Given the description of an element on the screen output the (x, y) to click on. 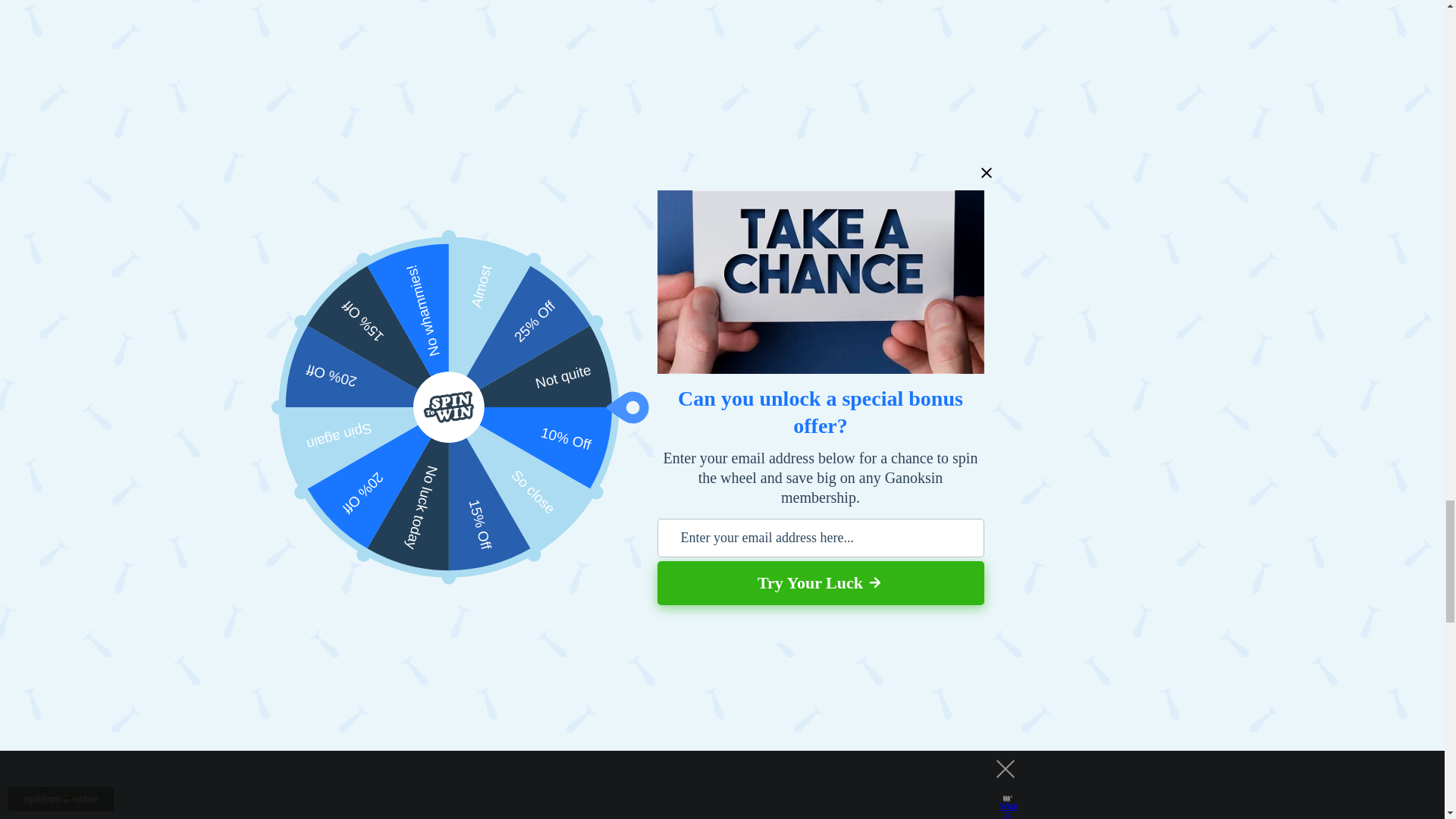
Charles Lewton-Brain (591, 11)
View All Articles (492, 91)
